Given the description of an element on the screen output the (x, y) to click on. 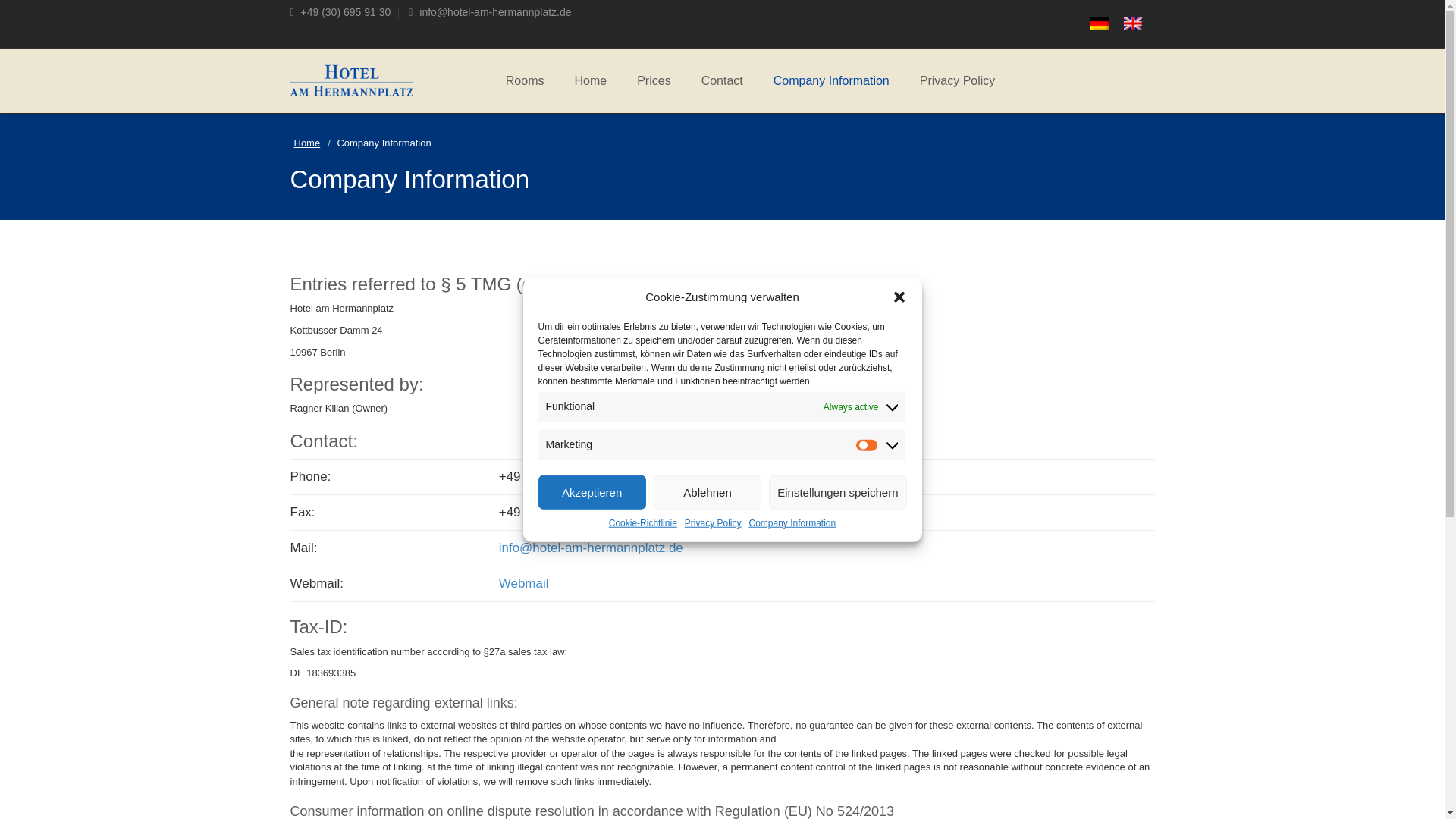
Home (306, 142)
Home (590, 81)
Rooms (524, 81)
Company Information (792, 671)
Einstellungen speichern (836, 774)
Privacy Policy (957, 81)
Company Information (831, 81)
Privacy Policy (712, 695)
Prices (653, 81)
Contact (721, 81)
